Given the description of an element on the screen output the (x, y) to click on. 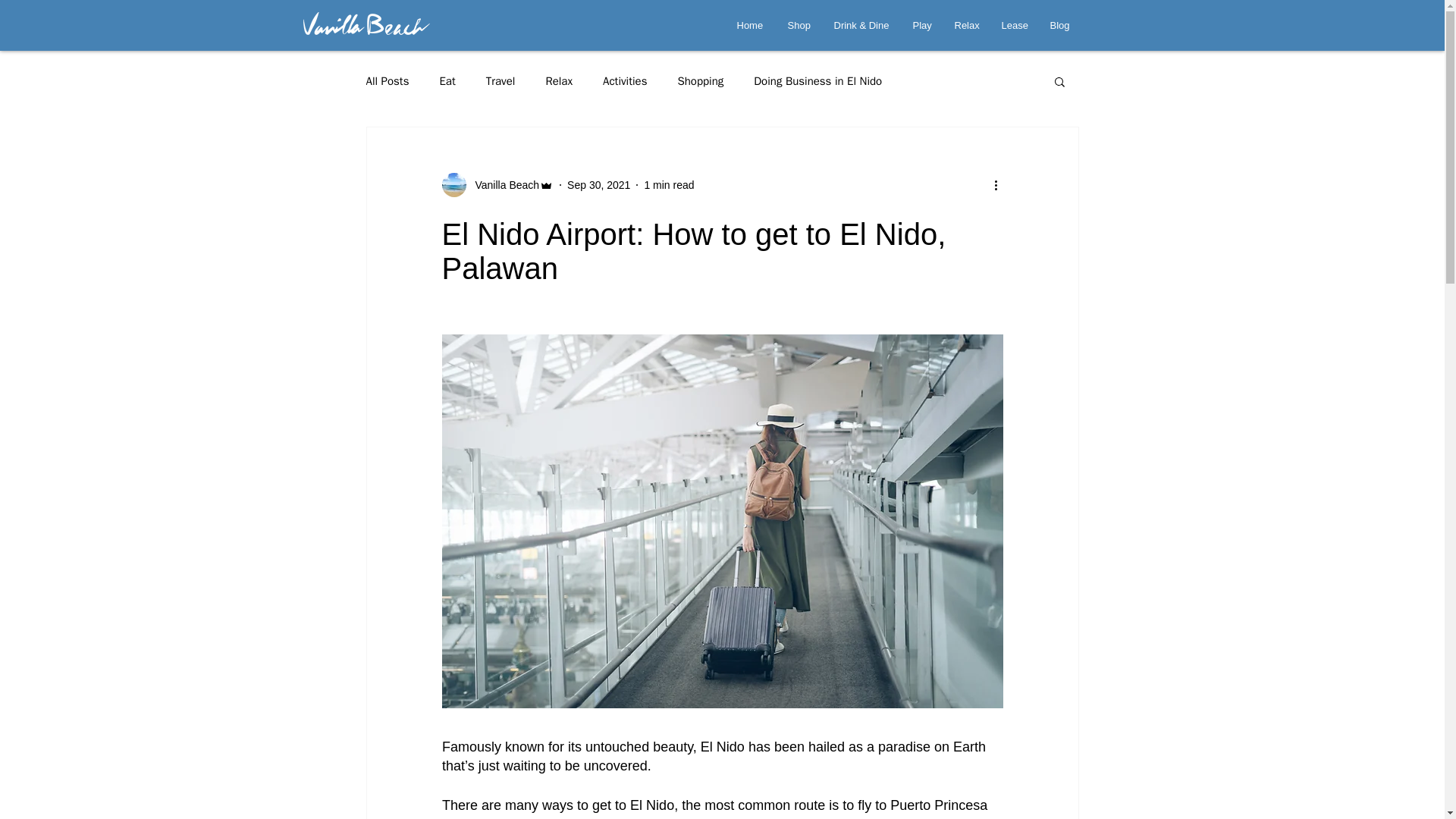
Lease (1014, 25)
Travel (500, 81)
All Posts (387, 81)
Relax (966, 25)
Vanilla Beach (497, 184)
Home (750, 25)
Blog (1060, 25)
Vanilla Beach (501, 185)
Shop (799, 25)
1 min read (668, 184)
Sep 30, 2021 (598, 184)
Play (921, 25)
Doing Business in El Nido (818, 81)
Shopping (700, 81)
Activities (624, 81)
